Given the description of an element on the screen output the (x, y) to click on. 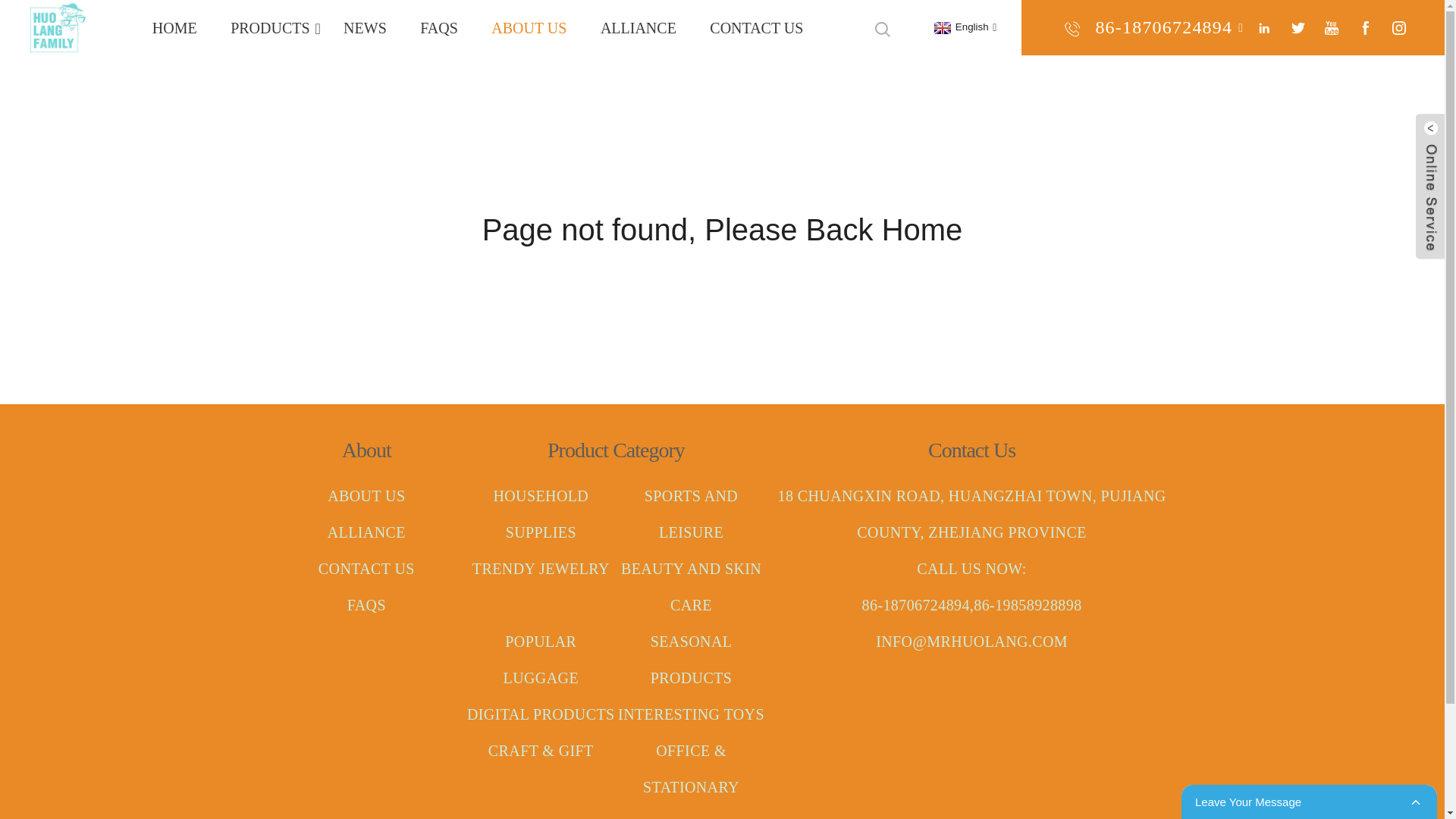
English (963, 27)
ABOUT US (367, 495)
ABOUT US (528, 27)
NEWS (365, 27)
FAQS (438, 27)
ALLIANCE (638, 27)
Page not found, Please Back Home (721, 229)
CONTACT US (756, 27)
FAQS (366, 605)
86-19858928898 (1163, 61)
PRODUCTS (269, 27)
TRENDY JEWELRY (542, 568)
HOUSEHOLD SUPPLIES (545, 513)
86-18706724894 (1163, 27)
SPORTS AND LEISURE (695, 513)
